Given the description of an element on the screen output the (x, y) to click on. 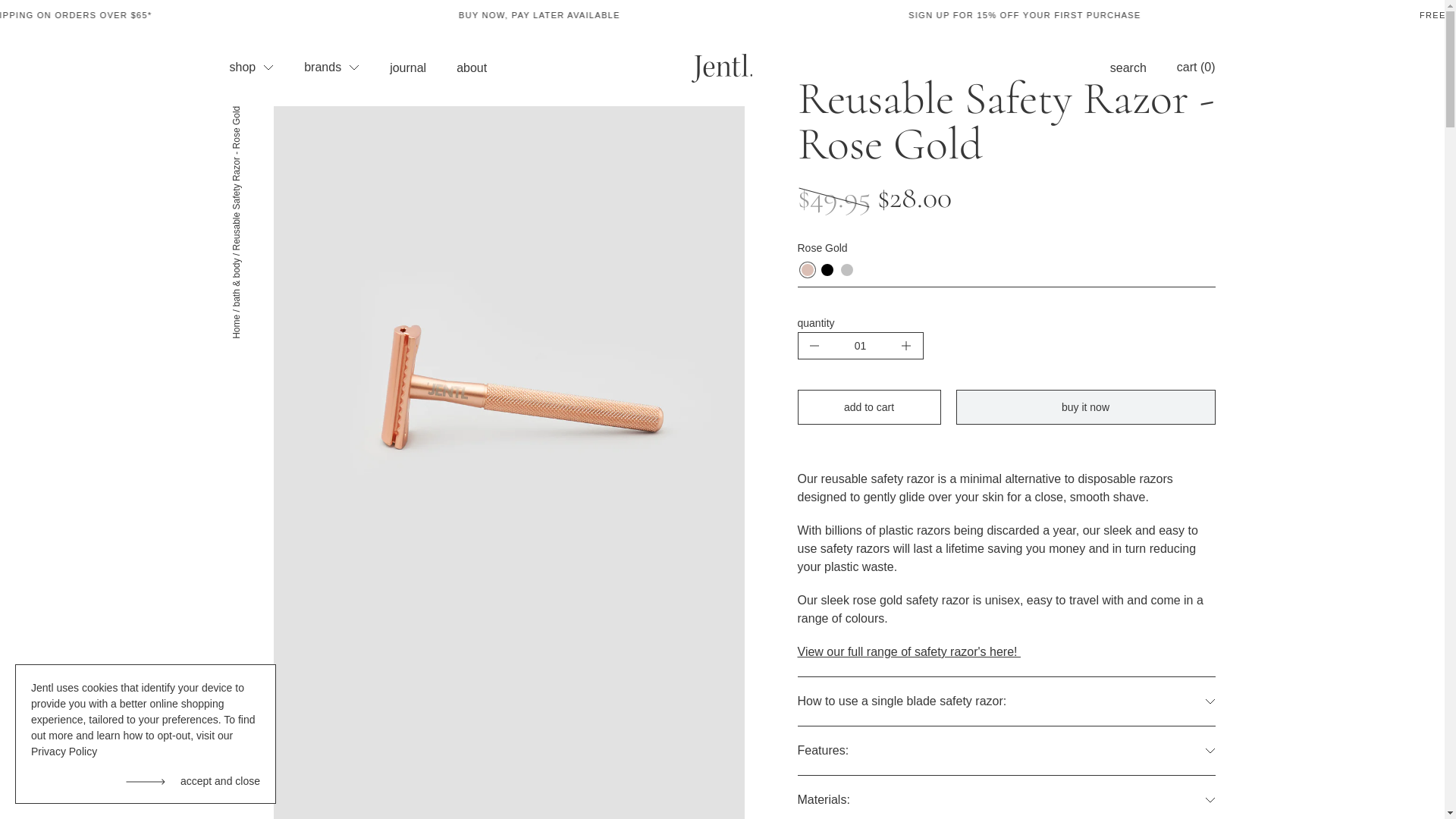
 Reusable Safety Razor - Rose Gold Element type: text (235, 179)
brands Element type: text (331, 67)
buy it now Element type: text (1084, 406)
shop Element type: text (251, 67)
 bath & body / Element type: text (235, 281)
Home / Element type: text (235, 323)
accept and close Element type: text (192, 781)
logo Element type: hover (721, 67)
Privacy Policy Element type: text (64, 751)
View our full range of safety razor's here!  Element type: text (908, 651)
add to cart Element type: text (869, 406)
